Given the description of an element on the screen output the (x, y) to click on. 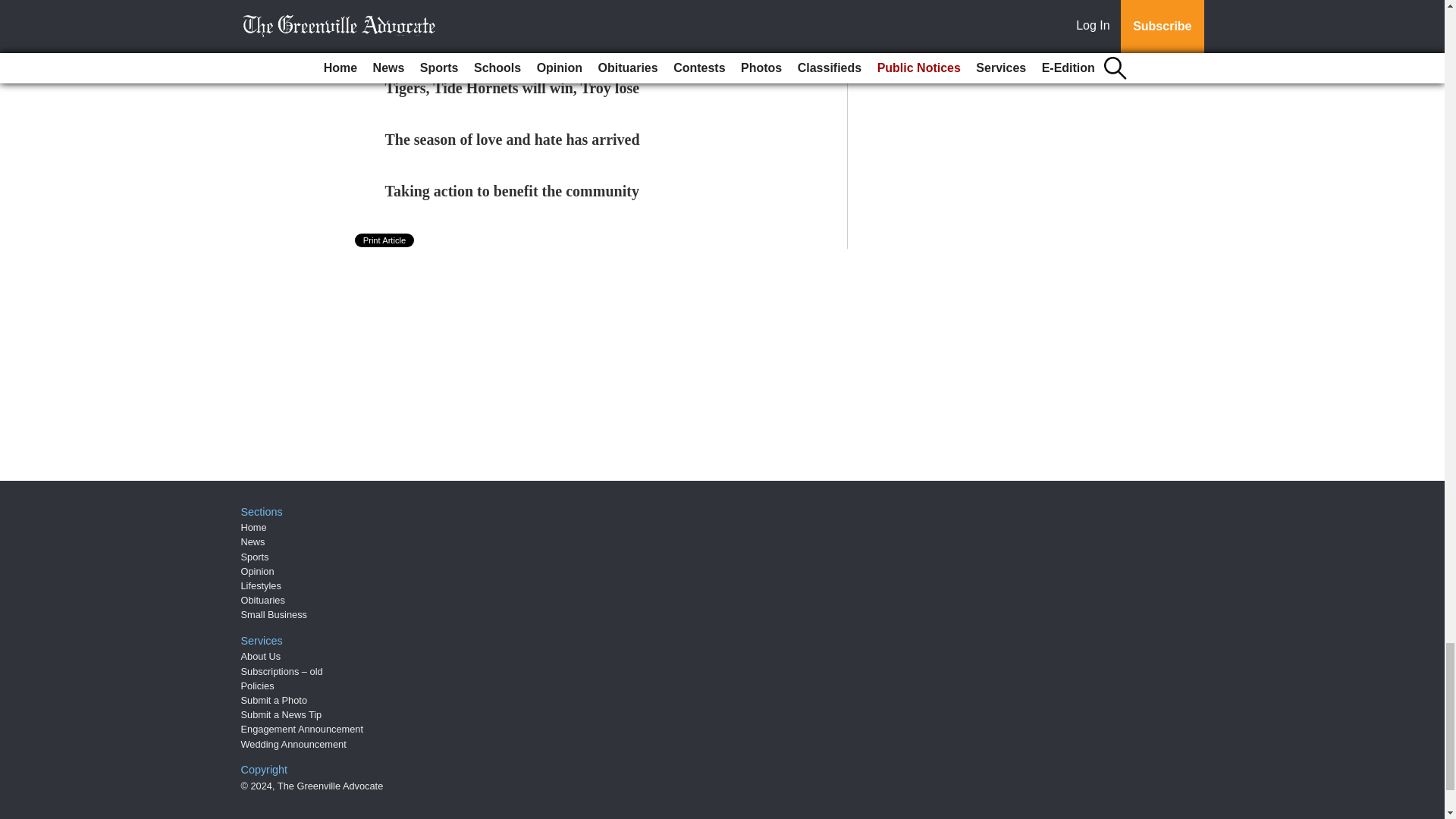
The season of love and hate has arrived (512, 139)
Taking action to benefit the community (512, 190)
The season of love and hate has arrived (512, 139)
Taking action to benefit the community (512, 190)
Tigers, Tide Hornets will win, Troy lose (512, 87)
Tigers, Tide Hornets will win, Troy lose (512, 87)
Print Article (384, 240)
